Given the description of an element on the screen output the (x, y) to click on. 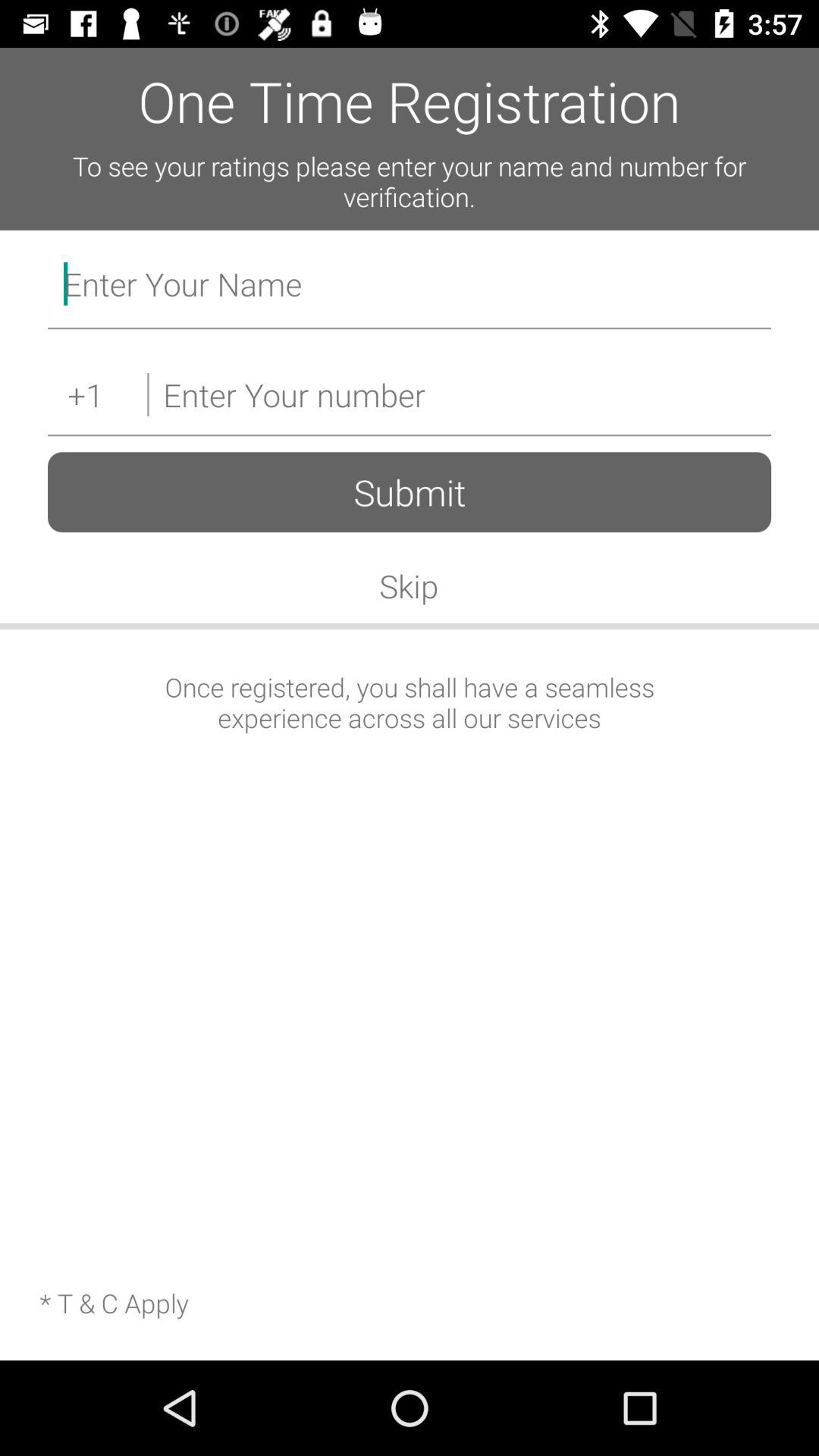
click the skip (408, 585)
